Given the description of an element on the screen output the (x, y) to click on. 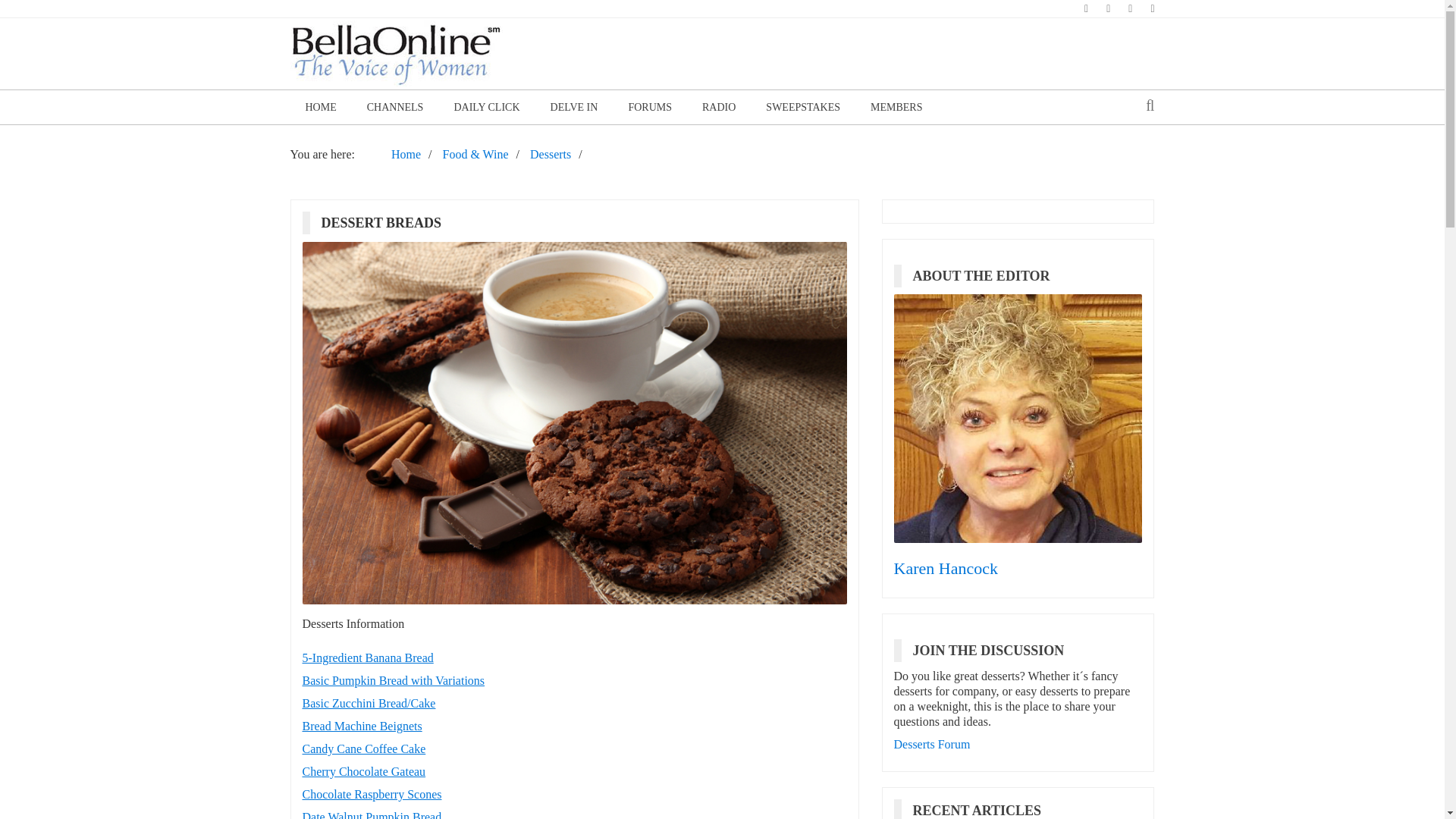
FORUMS (649, 107)
DELVE IN (573, 107)
SWEEPSTAKES (803, 107)
HOME (319, 107)
RADIO (719, 107)
DAILY CLICK (486, 107)
CHANNELS (395, 107)
